Given the description of an element on the screen output the (x, y) to click on. 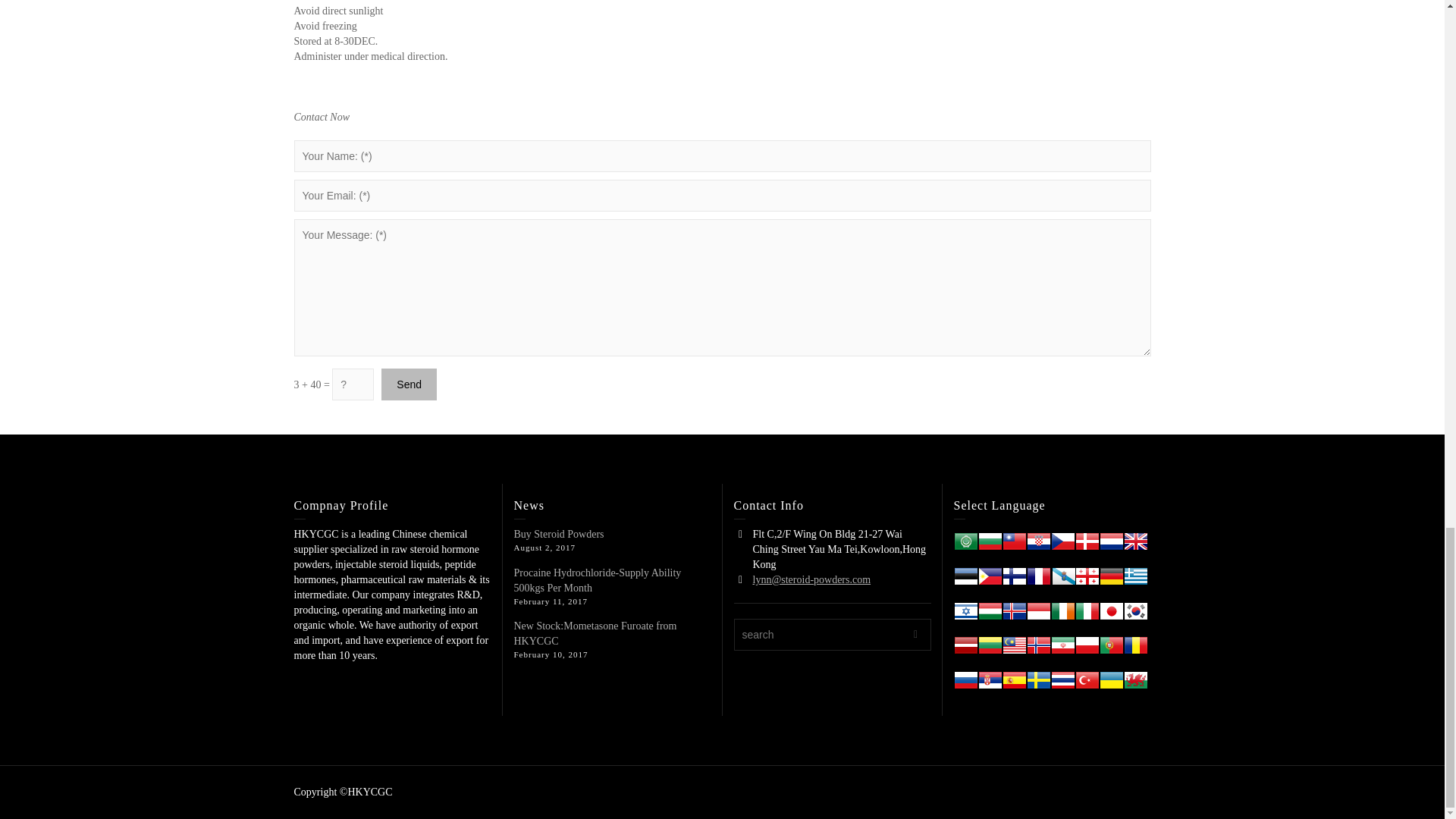
Send (408, 384)
